Given the description of an element on the screen output the (x, y) to click on. 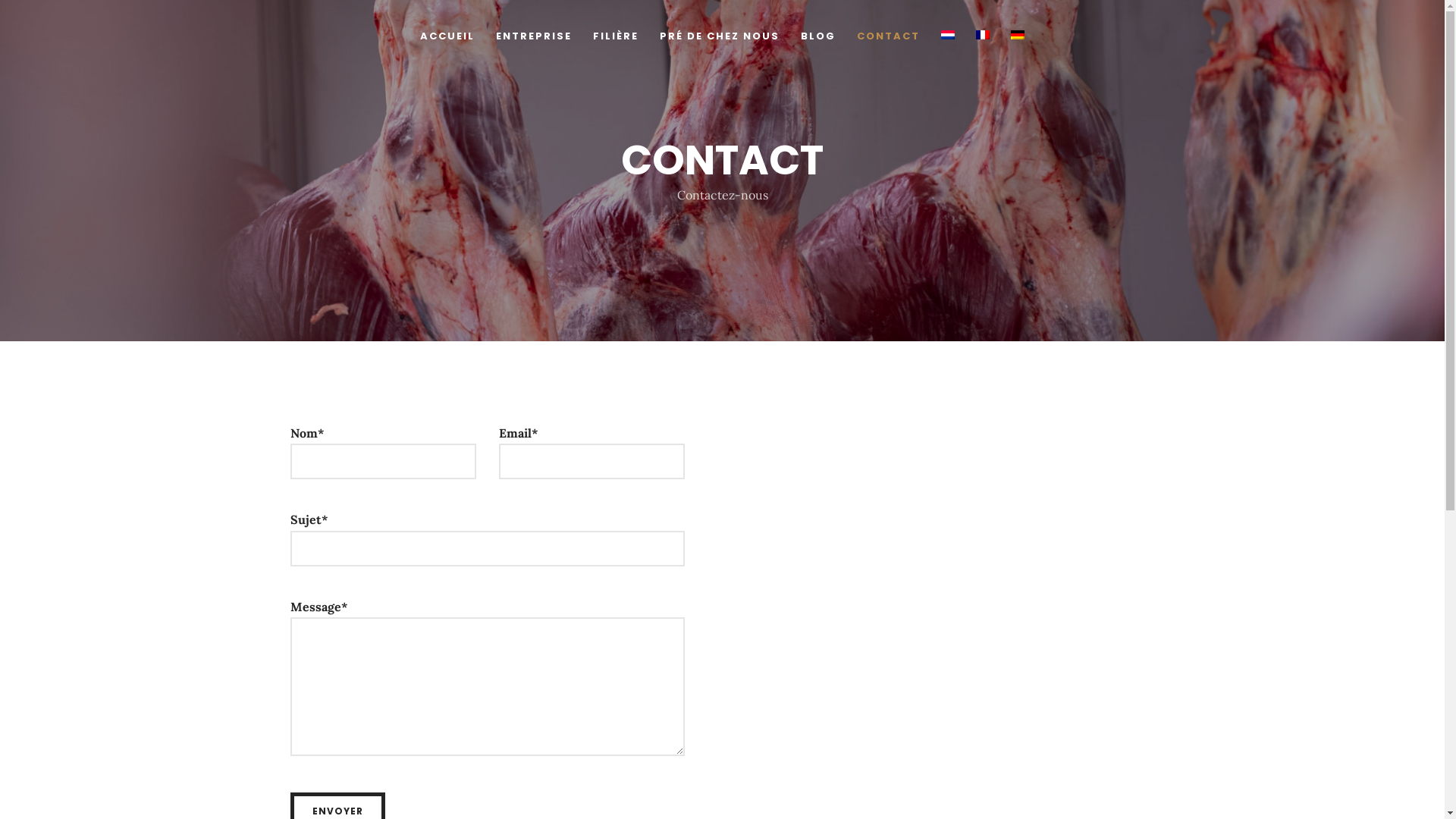
ACCUEIL Element type: text (447, 40)
CONTACT Element type: text (887, 40)
BLOG Element type: text (817, 40)
ENTREPRISE Element type: text (533, 40)
